Given the description of an element on the screen output the (x, y) to click on. 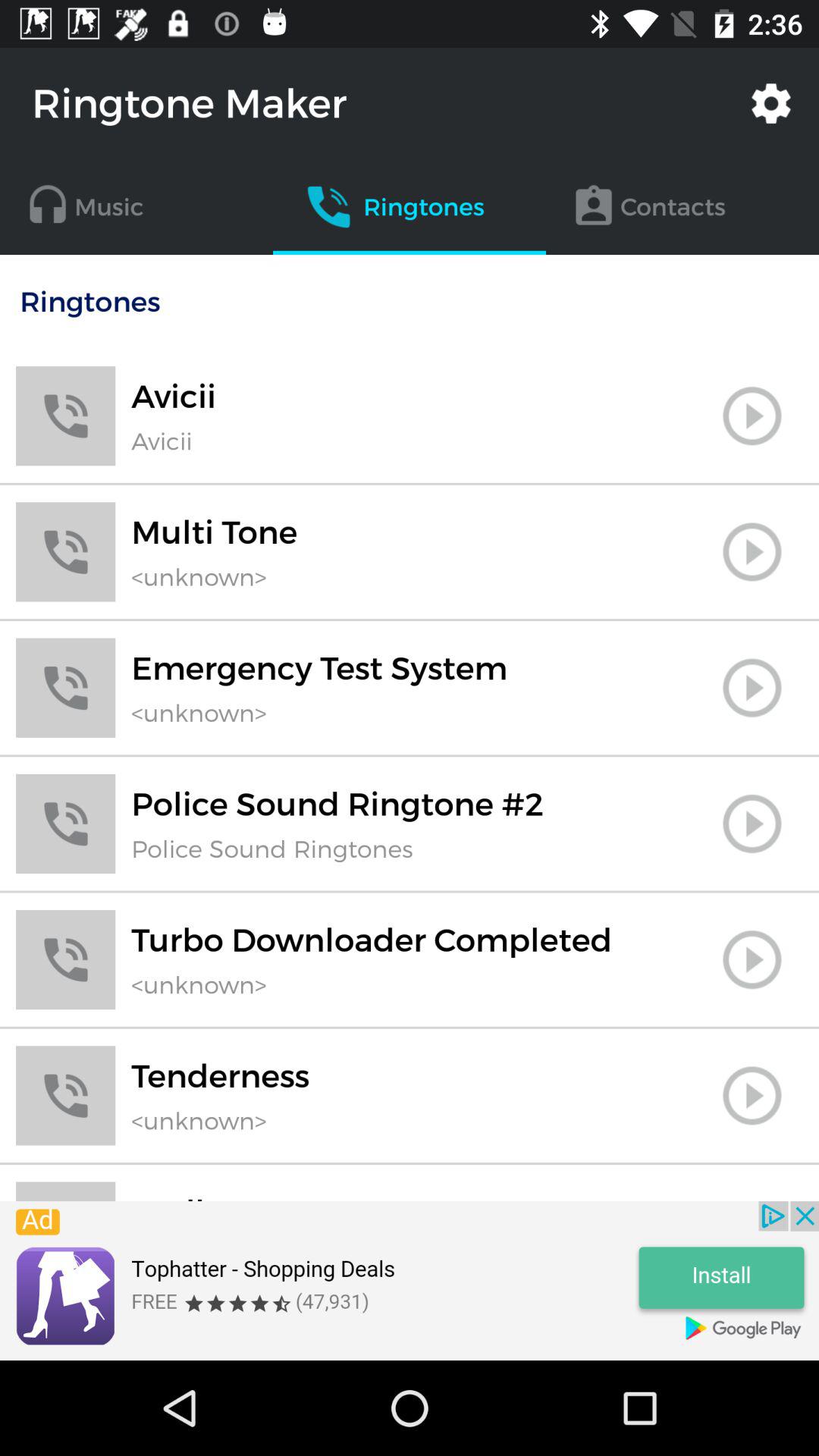
advertisement link (409, 1280)
